Given the description of an element on the screen output the (x, y) to click on. 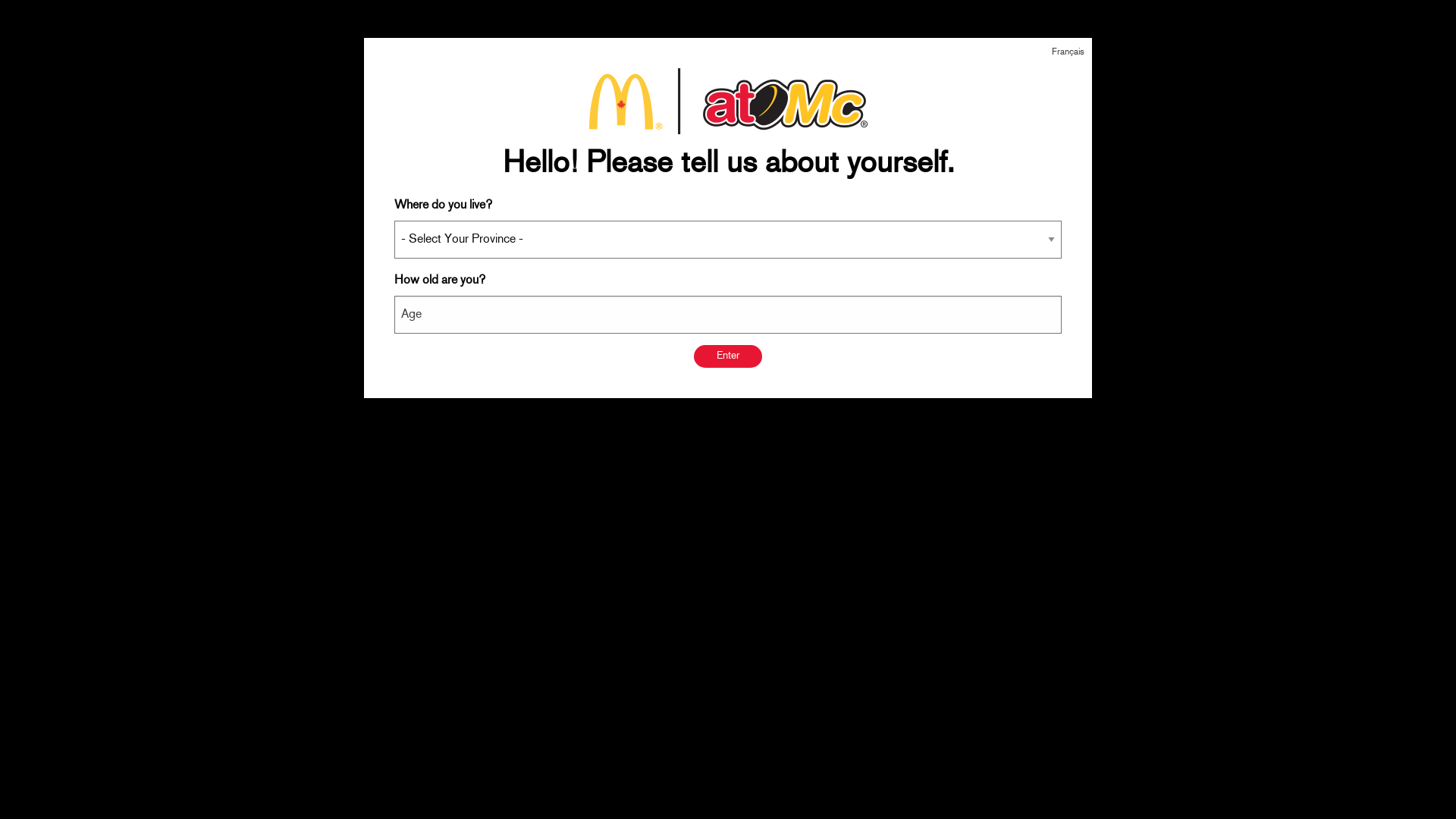
Enter Element type: text (727, 356)
